Given the description of an element on the screen output the (x, y) to click on. 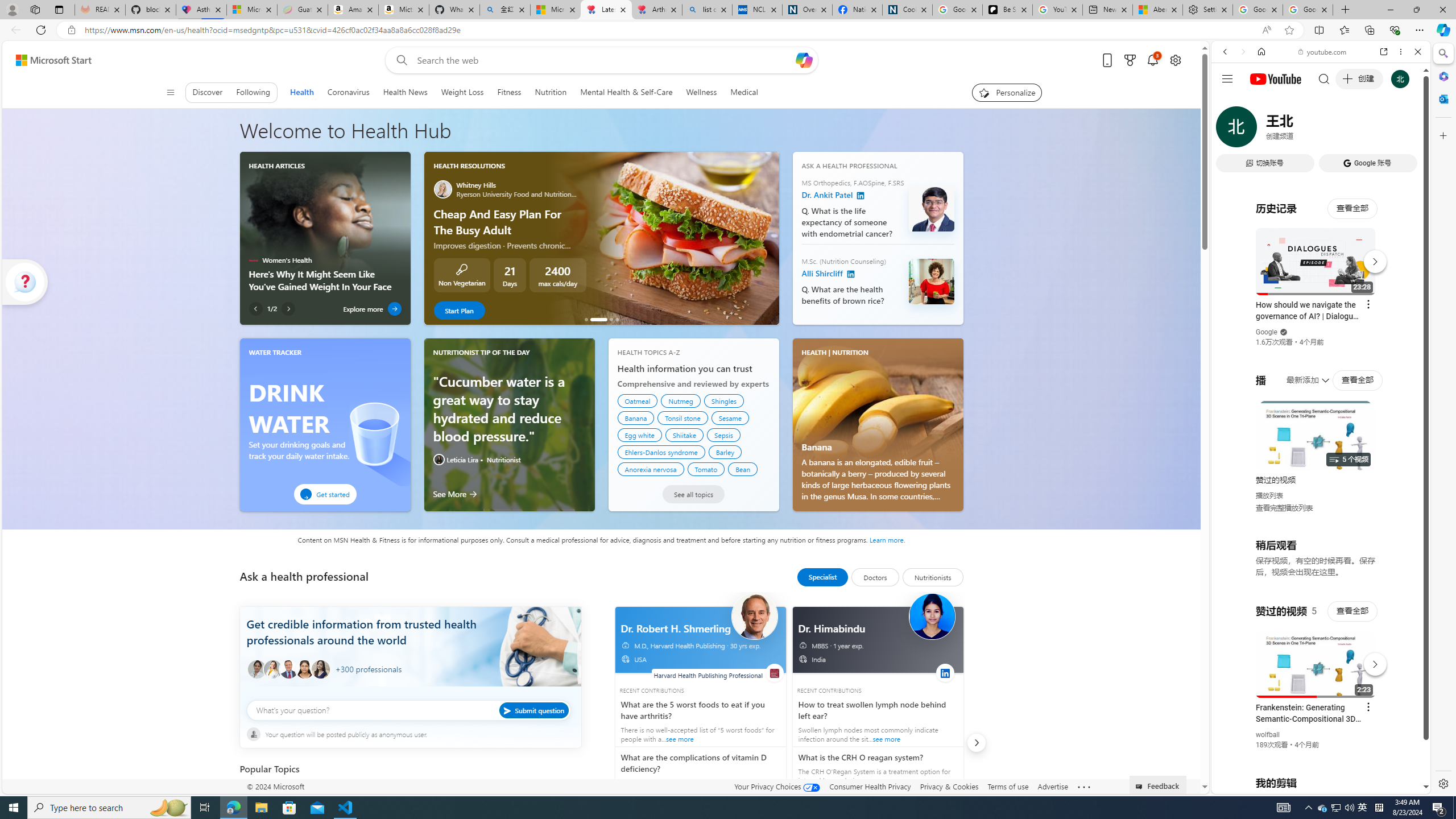
Nutrition (549, 92)
Explore more (372, 308)
Privacy & Cookies (949, 785)
Medical (743, 92)
Pictorial representation of Gout Gout Condition (500, 797)
you (1315, 755)
Pictorial representation of Stroke Stroke Condition (319, 797)
Egg white (639, 435)
